Given the description of an element on the screen output the (x, y) to click on. 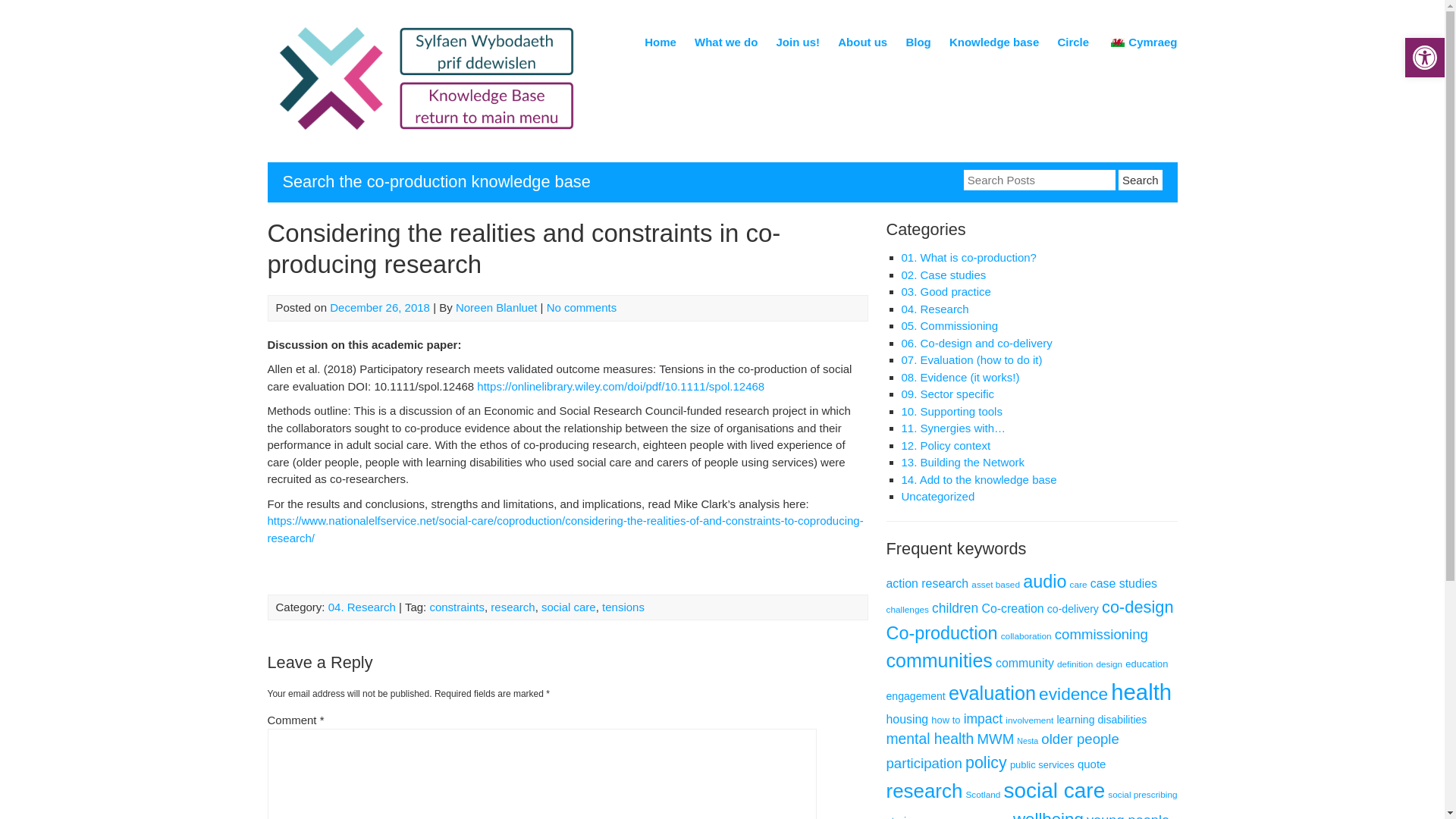
What we do (725, 44)
Cymraeg (1141, 44)
05. Commissioning (949, 325)
Noreen Blanluet (496, 307)
No comments (582, 307)
04. Research (362, 606)
social care (568, 606)
Search (1139, 179)
Cymraeg (1117, 41)
December 26, 2018 (379, 307)
